Given the description of an element on the screen output the (x, y) to click on. 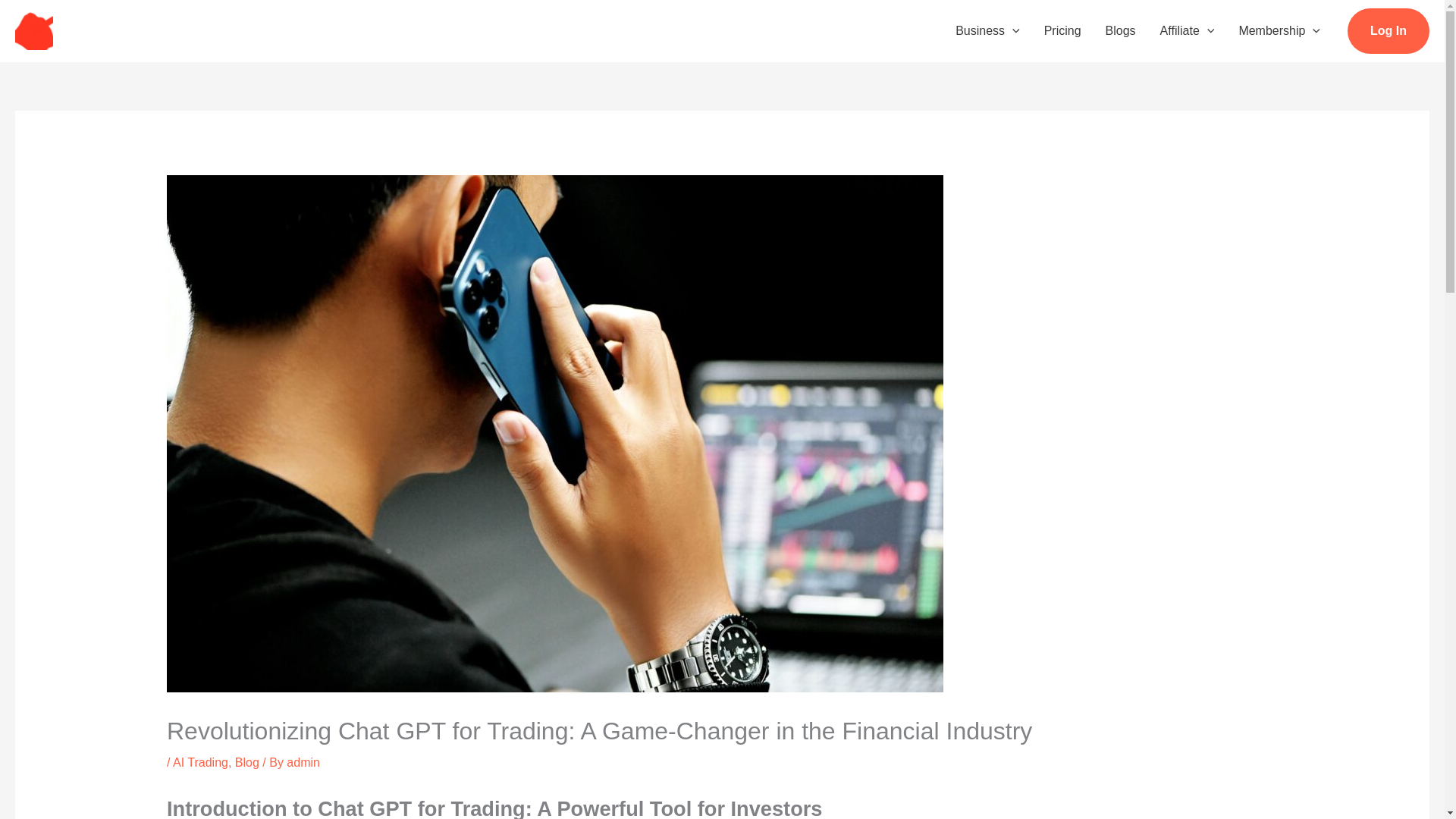
Business (987, 30)
Pricing (1062, 30)
Log In (1388, 31)
Affiliate (1187, 30)
View all posts by admin (303, 762)
Blogs (1120, 30)
Membership (1278, 30)
